Given the description of an element on the screen output the (x, y) to click on. 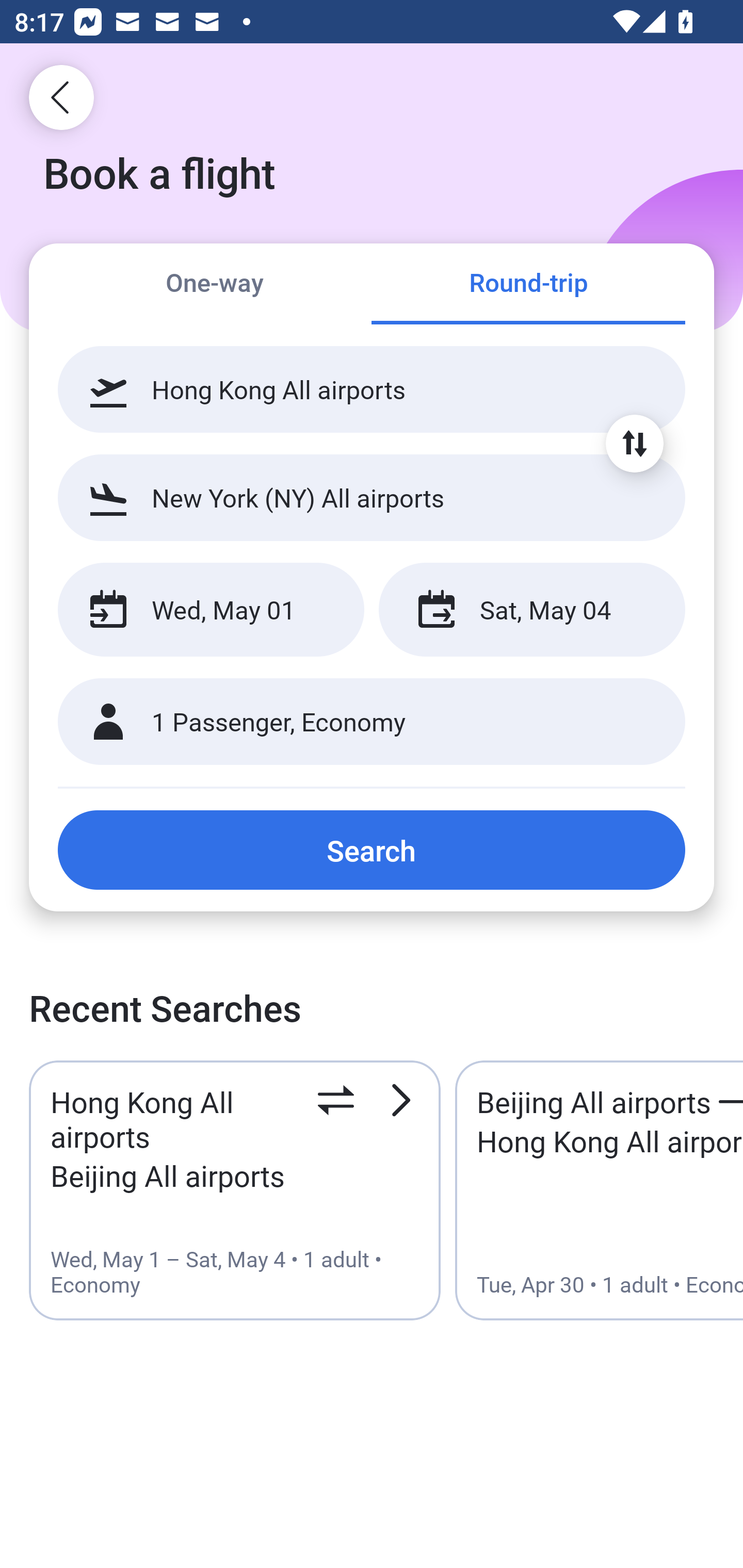
One-way (214, 284)
Hong Kong All airports (371, 389)
New York (NY) All airports (371, 497)
Wed, May 01 (210, 609)
Sat, May 04 (531, 609)
1 Passenger, Economy (371, 721)
Search (371, 849)
